Given the description of an element on the screen output the (x, y) to click on. 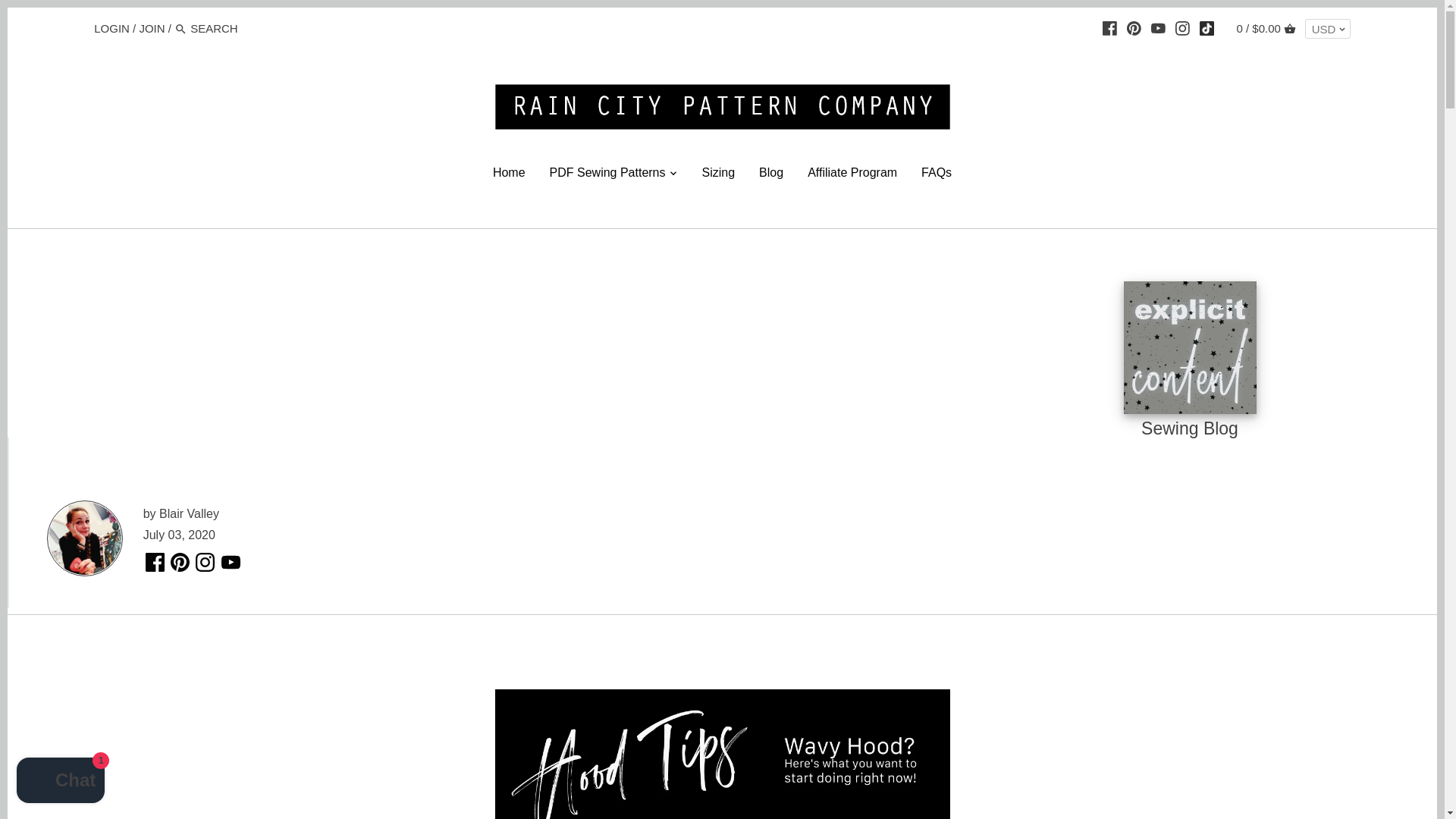
CART (1289, 28)
Pinterest Pinterest (180, 561)
Instagram Instagram (205, 561)
YOUTUBE (1158, 27)
Instagram (1181, 27)
INSTAGRAM (1181, 28)
LOGIN (111, 27)
Home (508, 174)
FACEBOOK (1109, 28)
Sewing Blog (1190, 425)
YOUTUBE (1157, 28)
PDF Sewing Patterns (607, 174)
INSTAGRAM (1181, 27)
Facebook (1109, 27)
Youtube YouTube (231, 561)
